Given the description of an element on the screen output the (x, y) to click on. 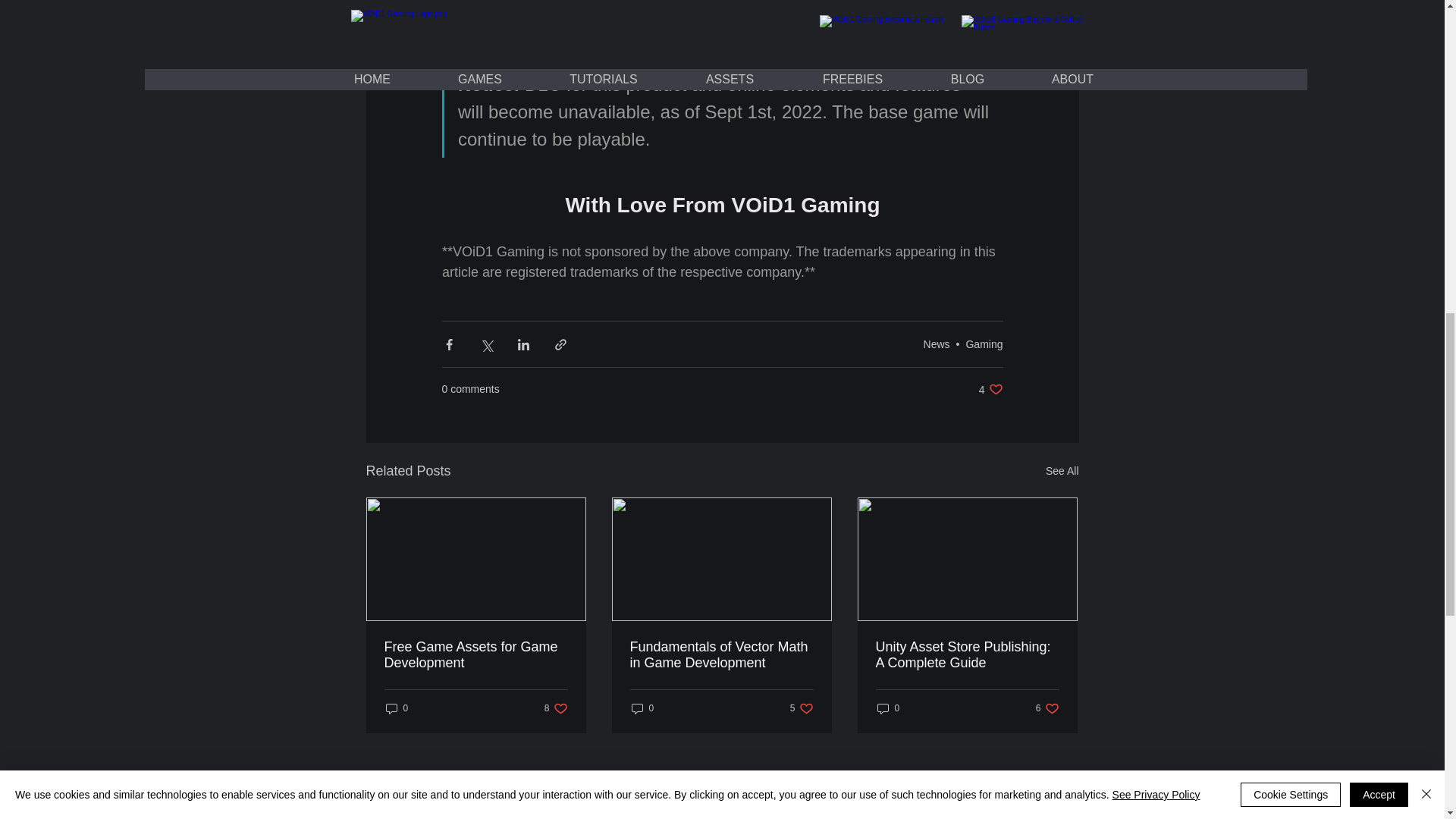
Gaming (984, 344)
0 (1047, 708)
Fundamentals of Vector Math in Game Development (888, 708)
Unity Asset Store Publishing: A Complete Guide (555, 708)
Free Game Assets for Game Development (720, 654)
See All (966, 654)
News (475, 654)
